Given the description of an element on the screen output the (x, y) to click on. 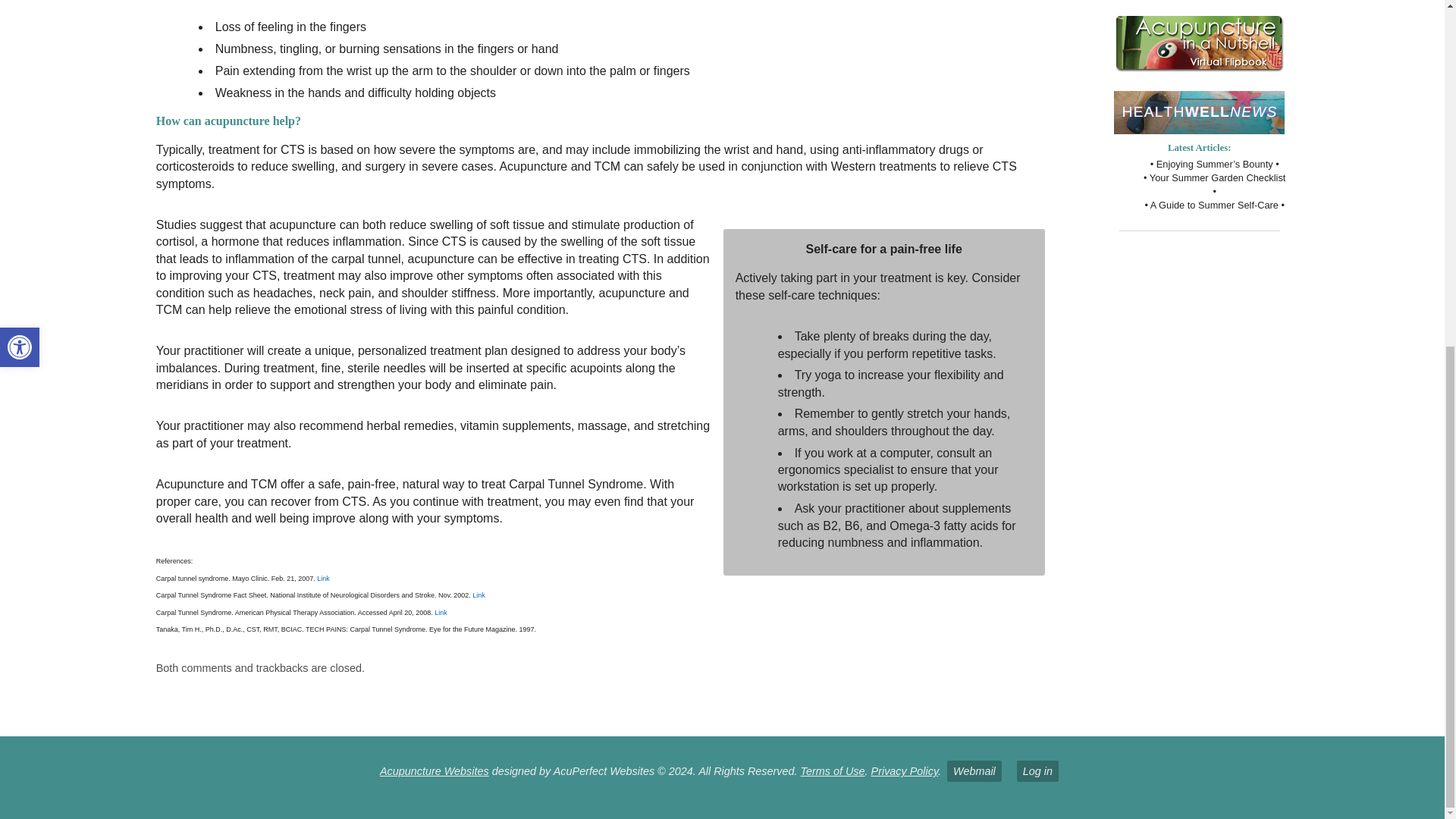
Acupuncture Websites (434, 770)
